Given the description of an element on the screen output the (x, y) to click on. 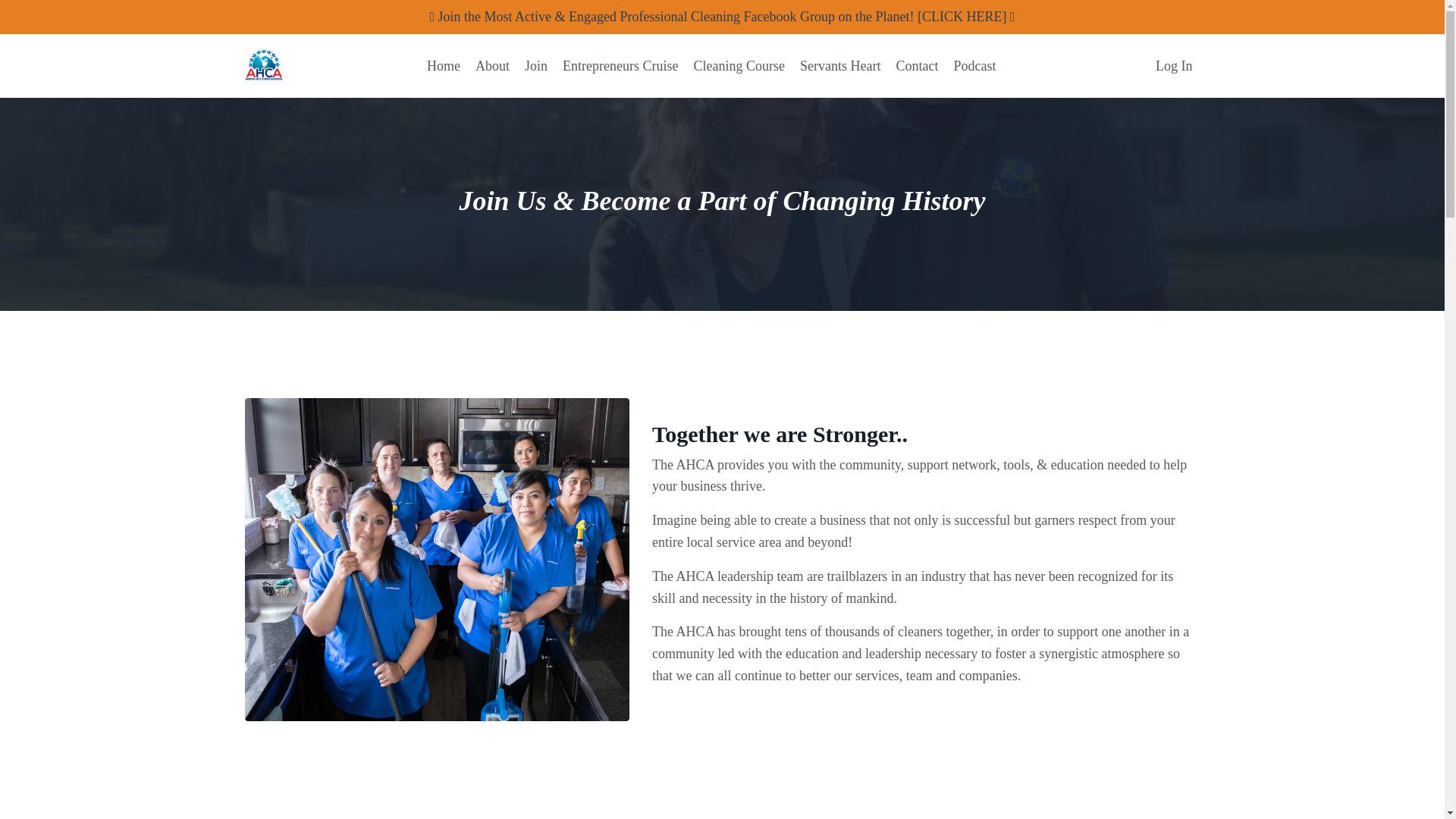
Entrepreneurs Cruise (620, 65)
Servants Heart (839, 65)
Podcast (974, 65)
Join (535, 65)
Home (443, 65)
About (492, 65)
Cleaning Course (738, 65)
Contact (916, 65)
Log In (1174, 65)
